Given the description of an element on the screen output the (x, y) to click on. 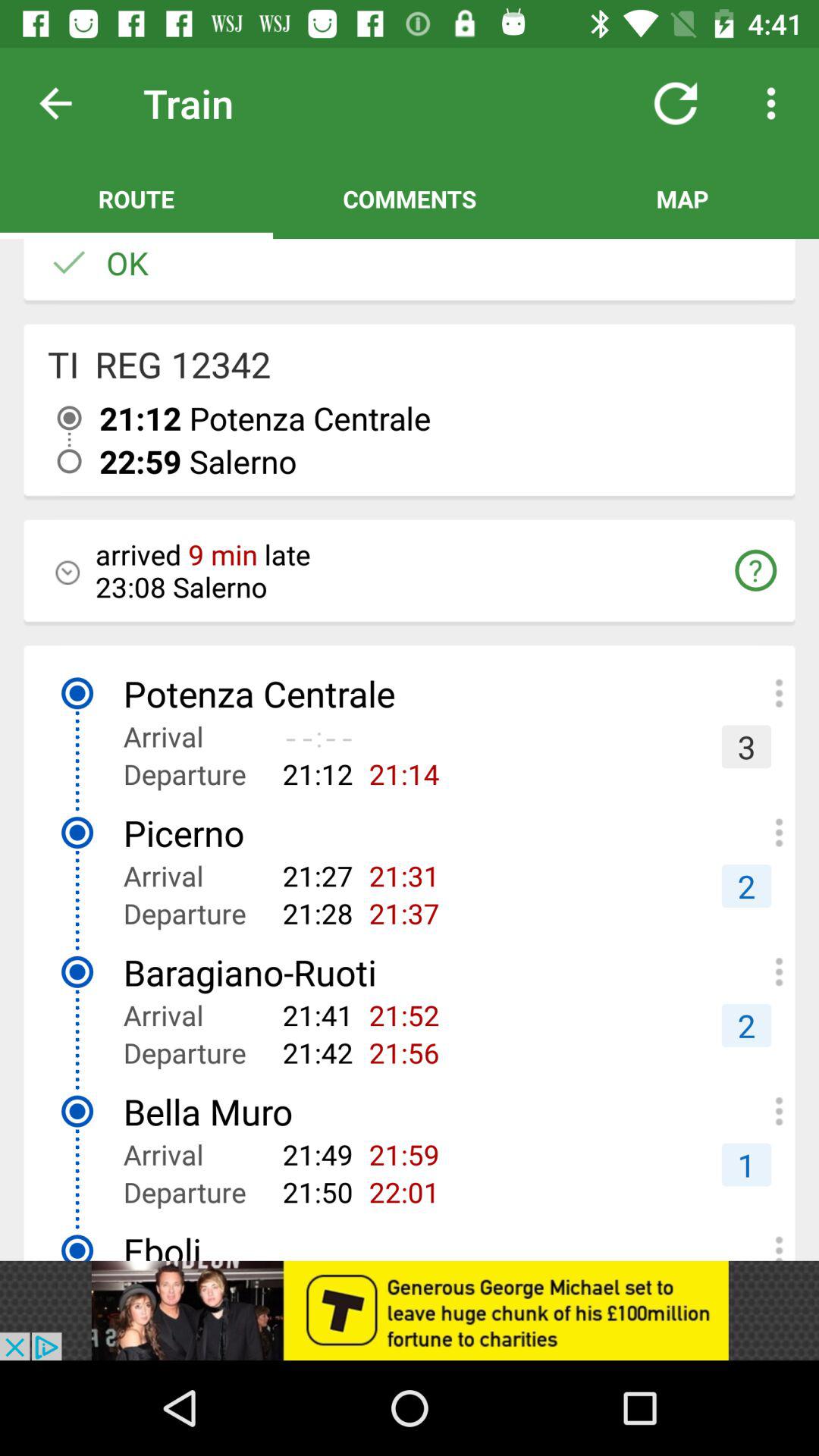
go back (67, 103)
